Given the description of an element on the screen output the (x, y) to click on. 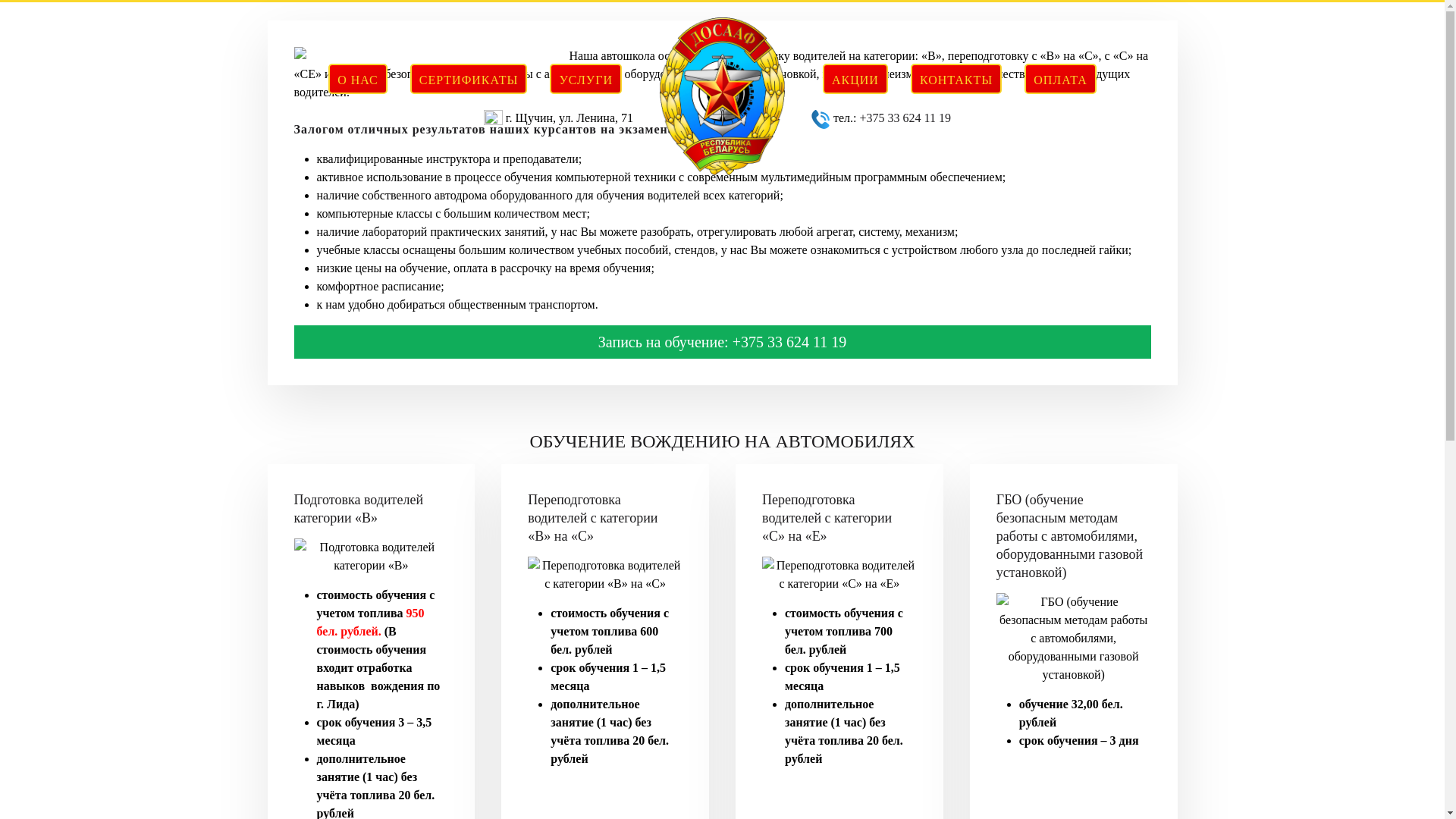
+375 33 624 11 19 Element type: text (904, 117)
